Given the description of an element on the screen output the (x, y) to click on. 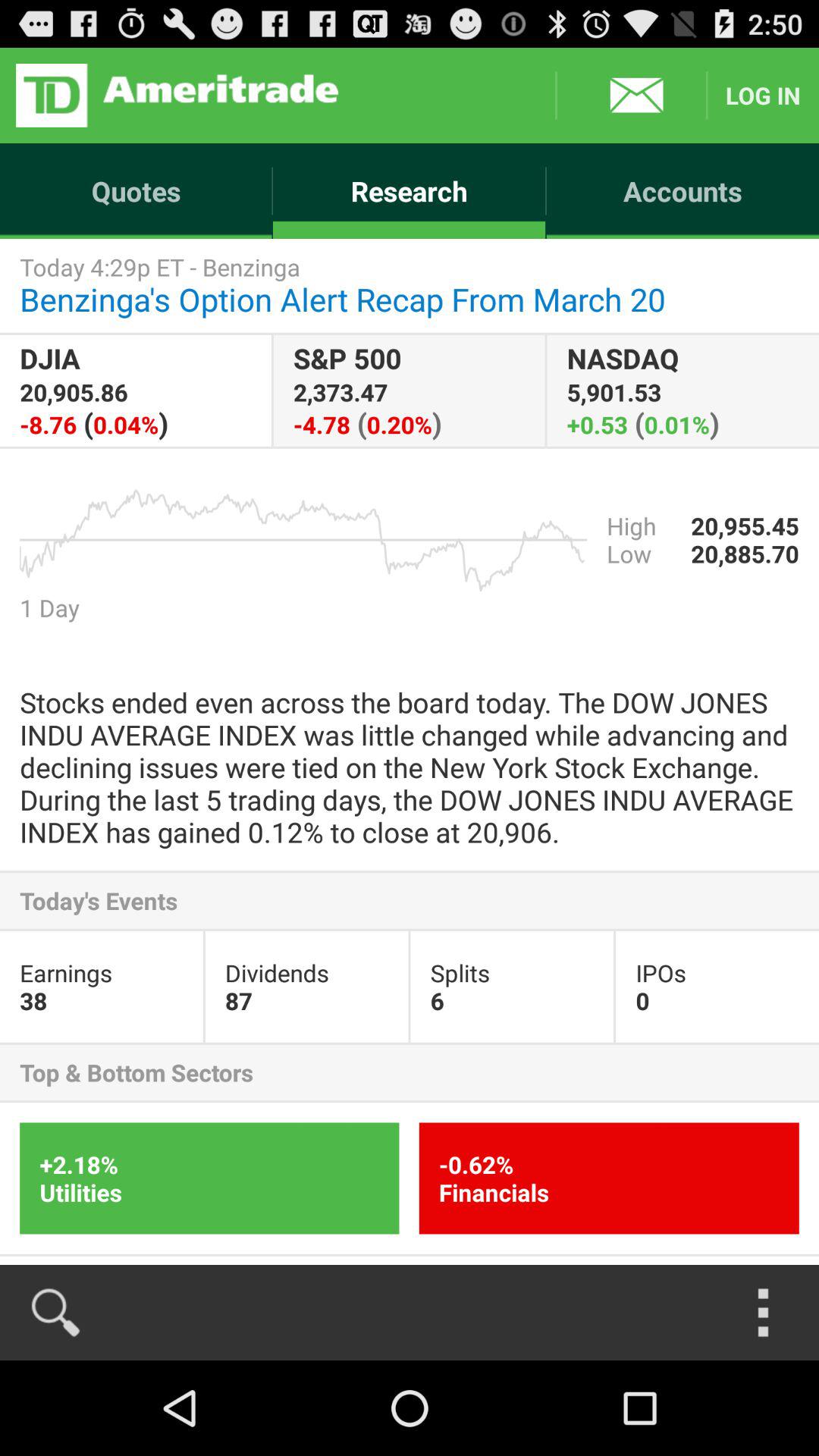
scroll to the djia 20 905 icon (135, 390)
